Given the description of an element on the screen output the (x, y) to click on. 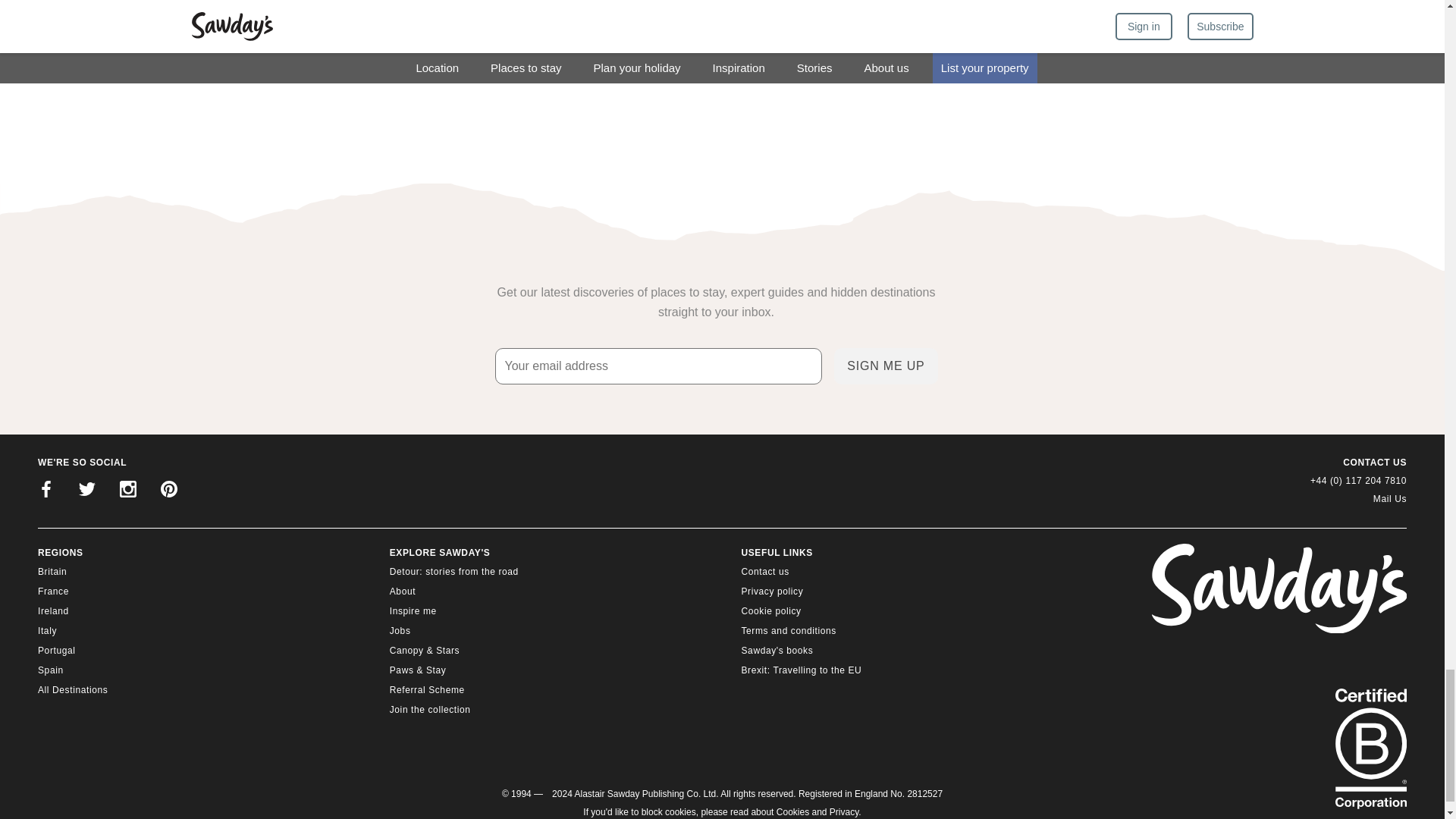
Pinterest (168, 491)
SIGN ME UP (885, 366)
Instagram (127, 491)
Twitter (86, 491)
Facebook (46, 491)
